Given the description of an element on the screen output the (x, y) to click on. 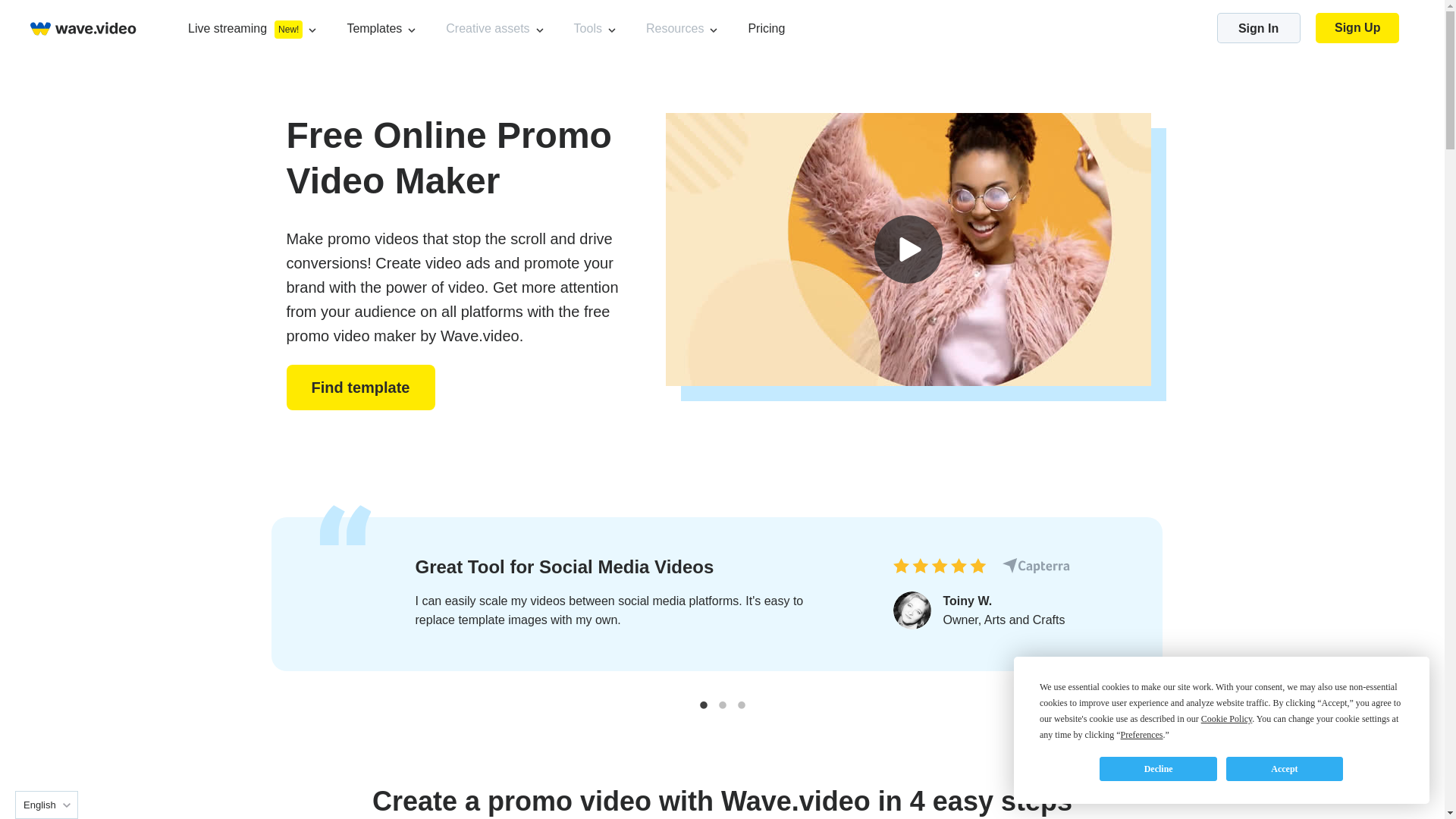
Decline (1157, 768)
Live streaming (226, 27)
Accept (1283, 768)
Templates (373, 27)
